Given the description of an element on the screen output the (x, y) to click on. 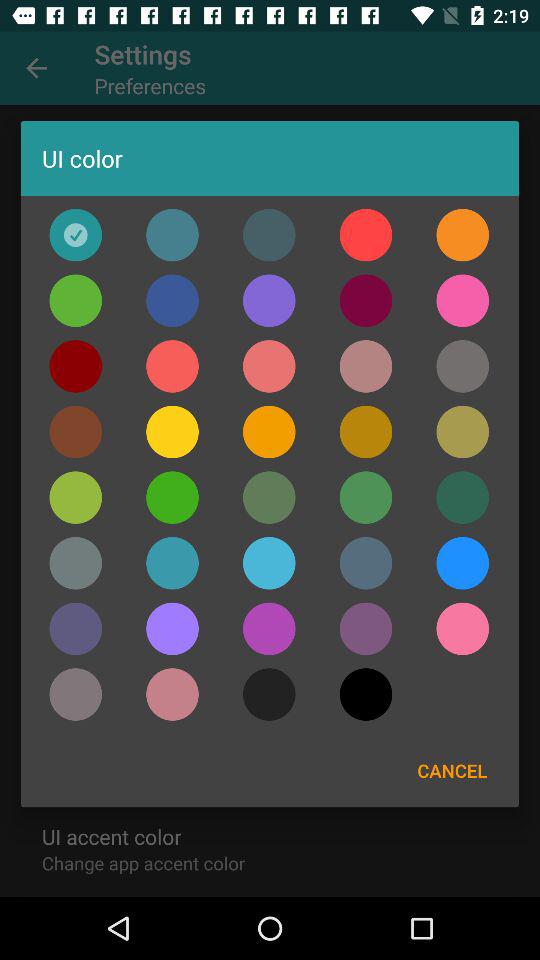
first name box (365, 366)
